Given the description of an element on the screen output the (x, y) to click on. 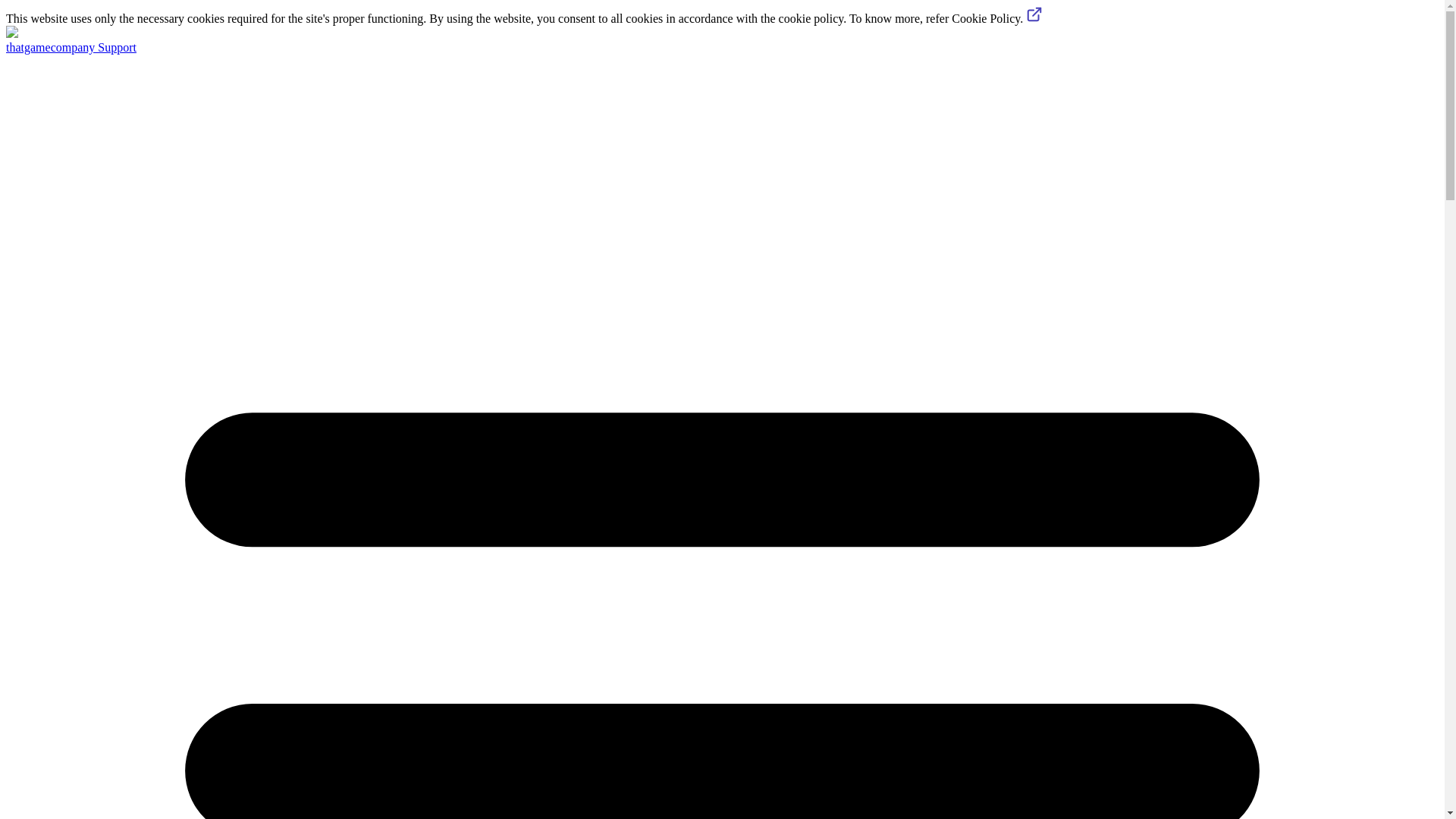
thatgamecompany Support (70, 47)
